Given the description of an element on the screen output the (x, y) to click on. 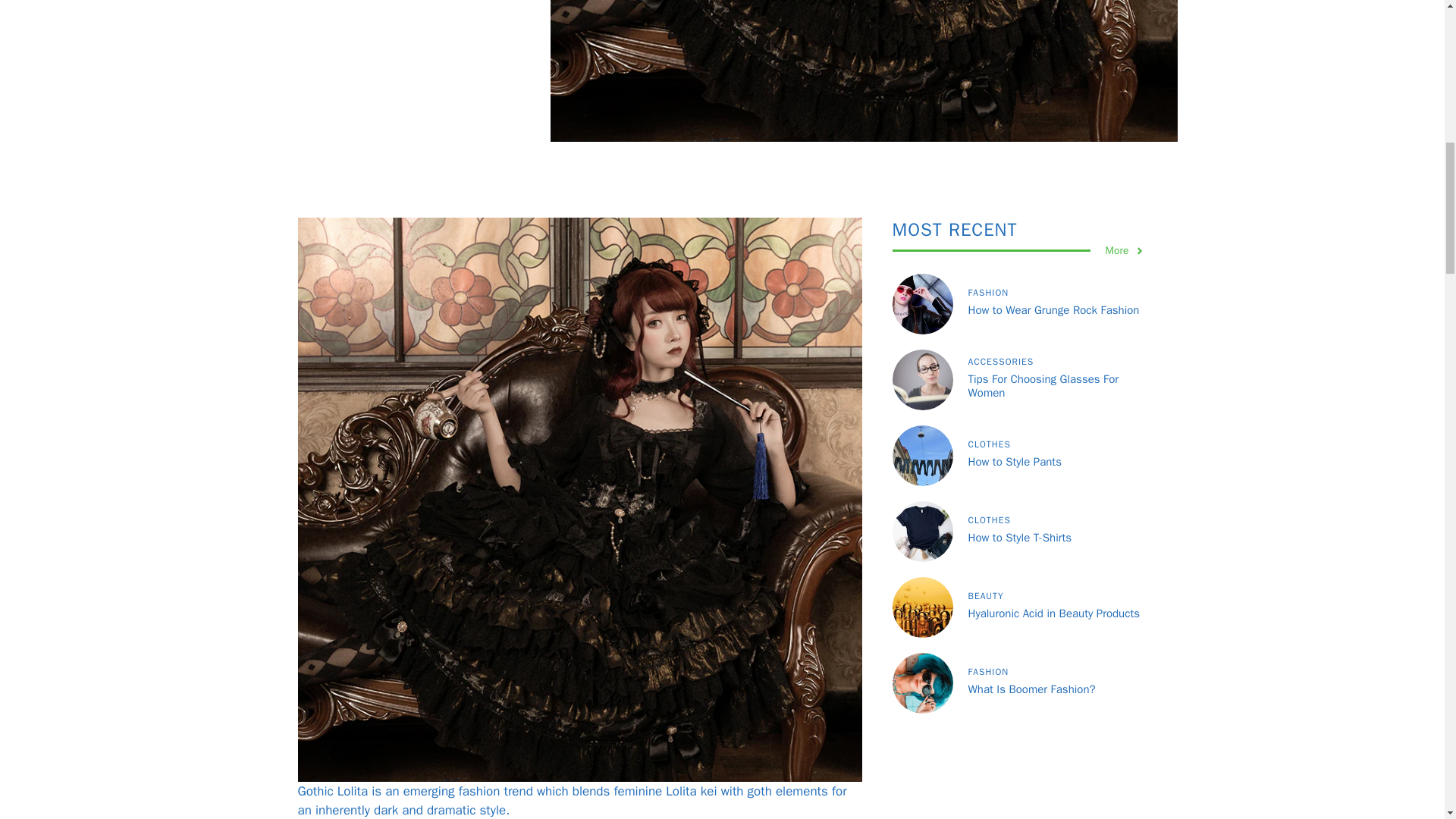
Tips For Choosing Glasses For Women (1043, 385)
How to Wear Grunge Rock Fashion (1053, 309)
More (1124, 250)
How to Style Pants (1014, 461)
Hyaluronic Acid in Beauty Products (1053, 612)
What Is Boomer Fashion? (1031, 689)
How to Style T-Shirts (1019, 537)
